Given the description of an element on the screen output the (x, y) to click on. 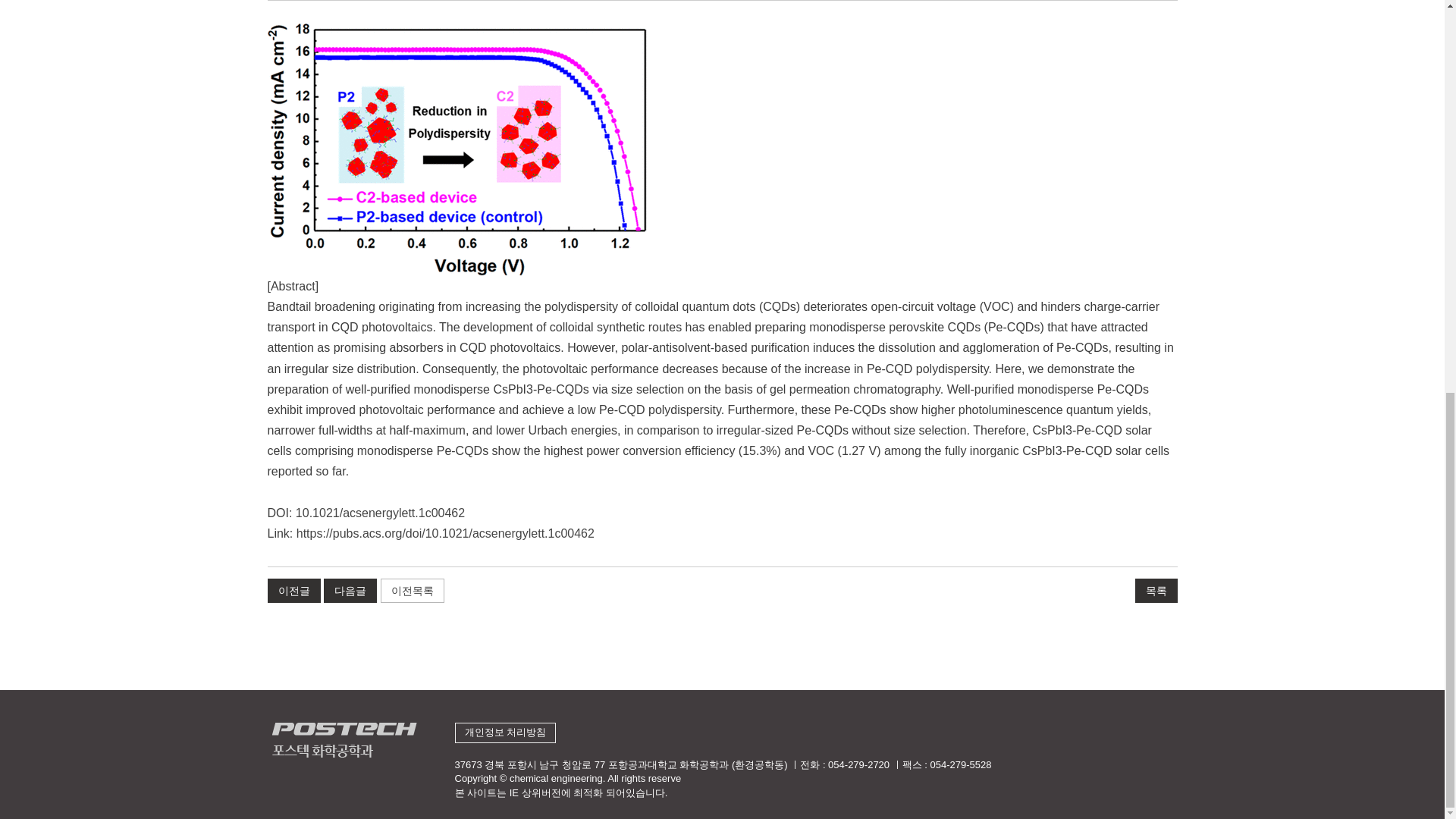
DOI URL (379, 512)
